Given the description of an element on the screen output the (x, y) to click on. 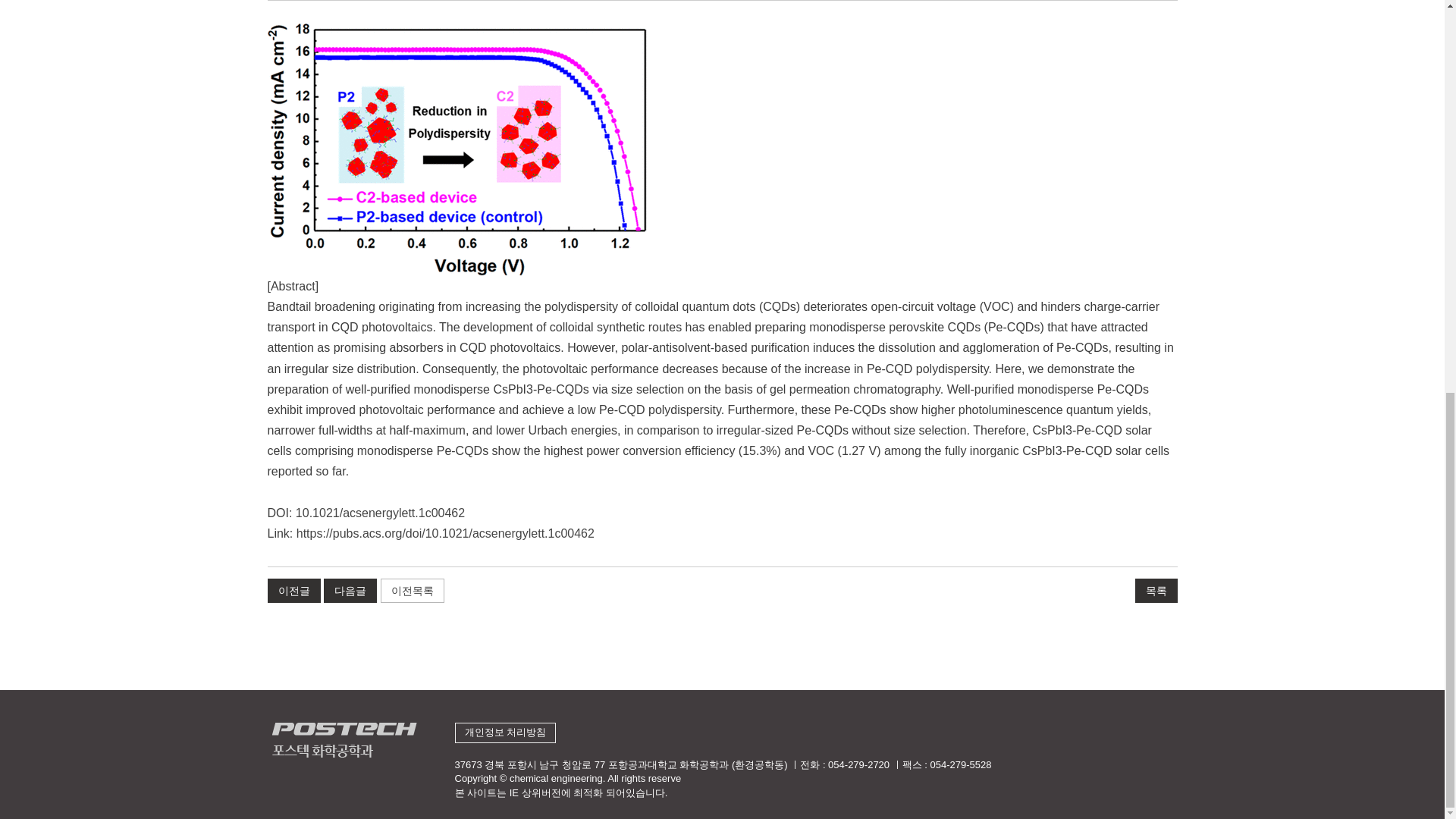
DOI URL (379, 512)
